Given the description of an element on the screen output the (x, y) to click on. 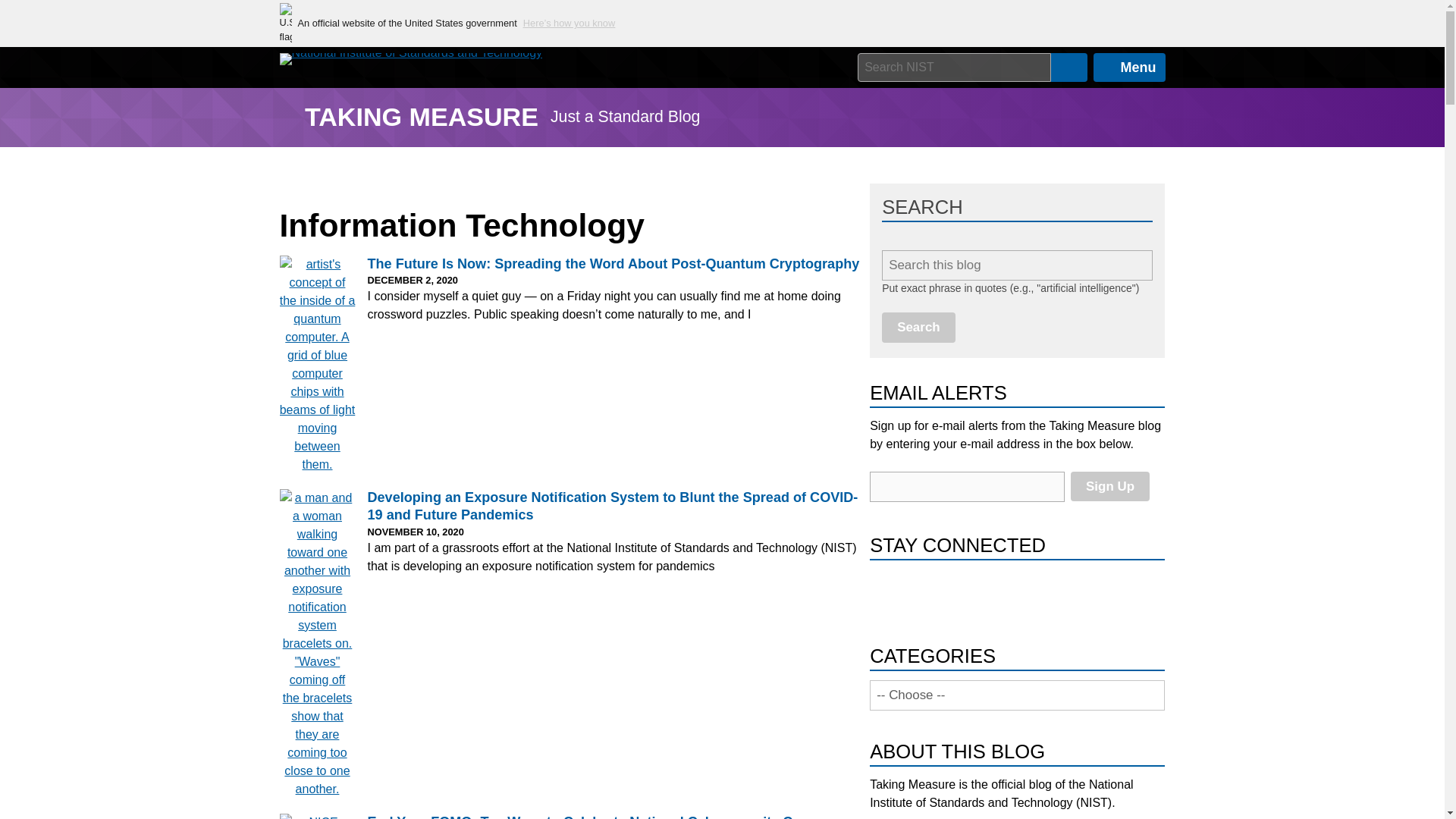
Sign Up (1110, 486)
National Institute of Standards and Technology (410, 59)
Menu (1129, 67)
Youtube (986, 592)
Instagram (1019, 592)
LinkedIn (919, 592)
Facebook (885, 592)
email (966, 486)
GovDelivery (1053, 592)
Search (918, 327)
-- Choose -- (1016, 695)
